Given the description of an element on the screen output the (x, y) to click on. 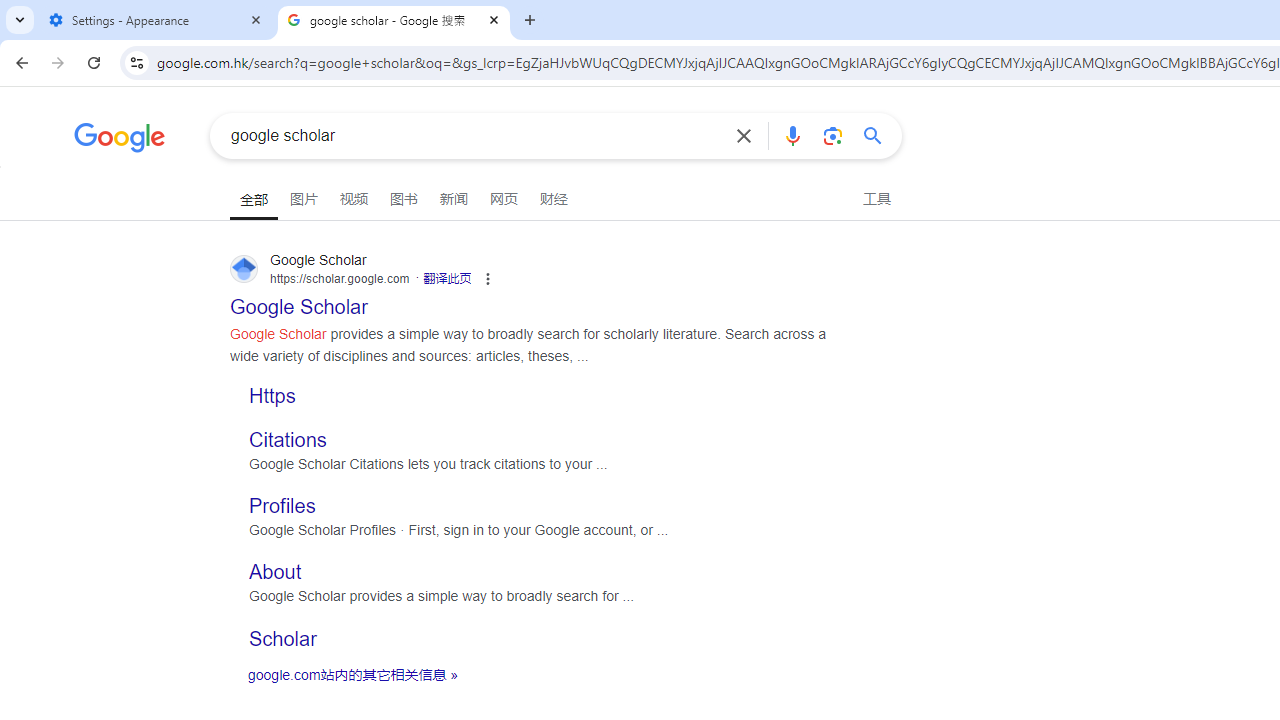
About (275, 571)
Settings - Appearance (156, 20)
Profiles (282, 506)
